Given the description of an element on the screen output the (x, y) to click on. 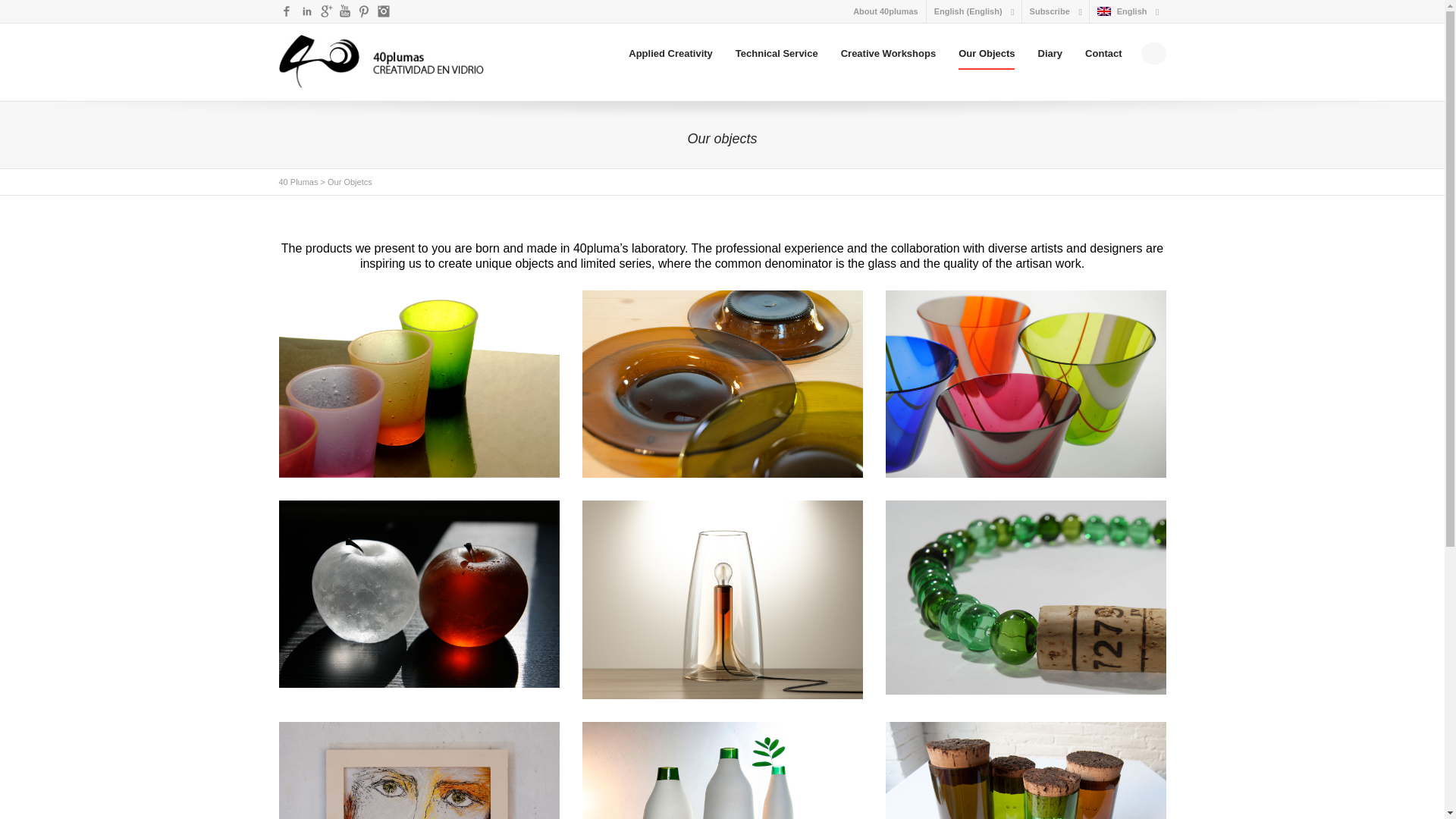
Subscribe Element type: text (1049, 11)
Our Objects Element type: text (986, 53)
nuestros objetos (10) Element type: hover (1025, 384)
40 Plumas Element type: text (298, 181)
nuestros objetos (12) Element type: hover (419, 384)
Diary Element type: text (1050, 53)
Contact Element type: text (1103, 53)
nuestros objetos (11) Element type: hover (722, 384)
Applied Creativity Element type: text (670, 53)
nuestros objetos (7) Element type: hover (1025, 597)
English (English) Element type: text (968, 11)
About 40plumas Element type: text (885, 11)
nuestros objetos (9) Element type: hover (419, 593)
Creative Workshops Element type: text (887, 53)
Technical Service Element type: text (776, 53)
English Element type: text (1121, 11)
nuestros objetos (8) Element type: hover (722, 599)
